Given the description of an element on the screen output the (x, y) to click on. 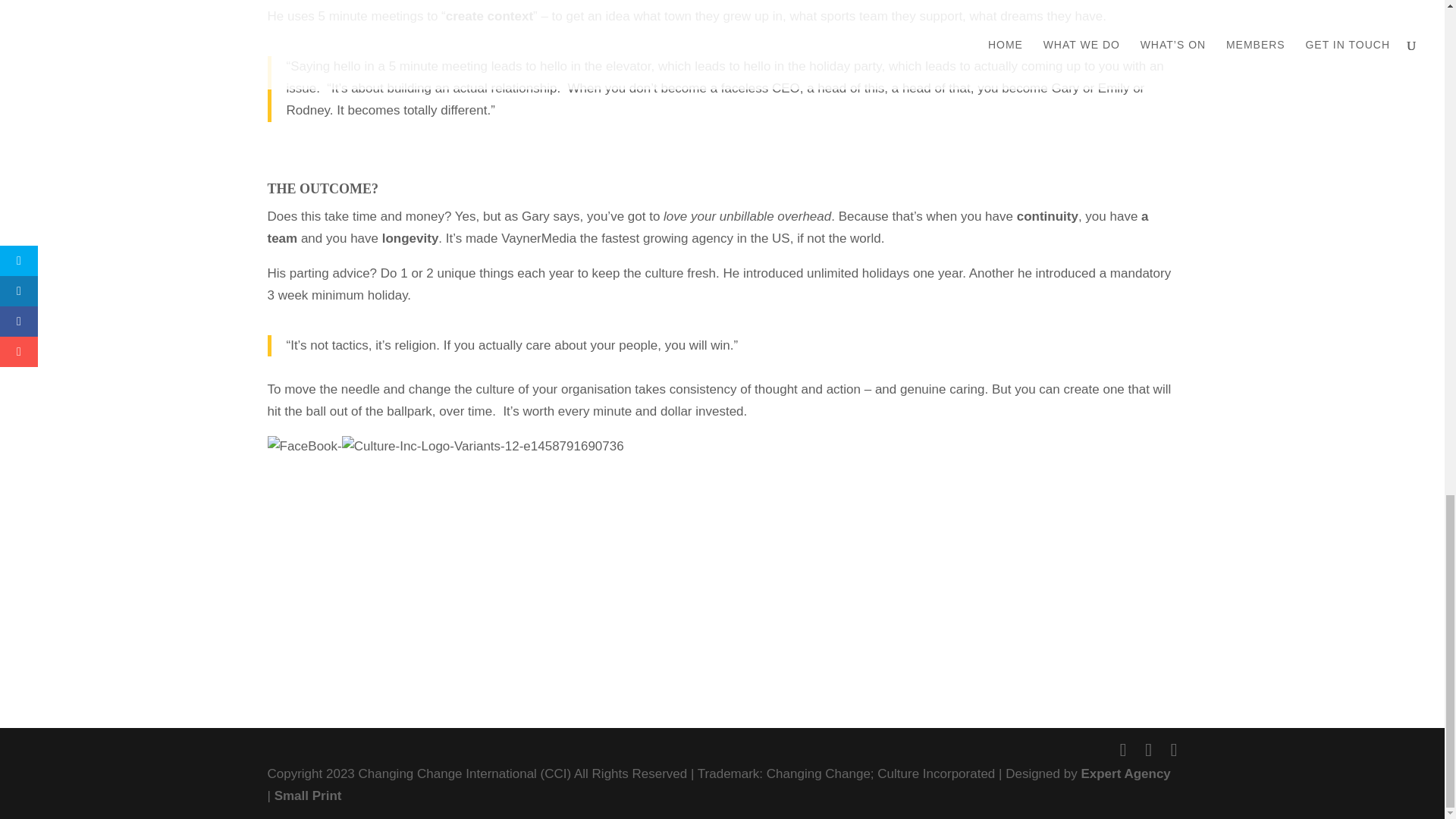
Premium WordPress Themes (308, 795)
Expert Agency (1125, 773)
Small Print (308, 795)
